Given the description of an element on the screen output the (x, y) to click on. 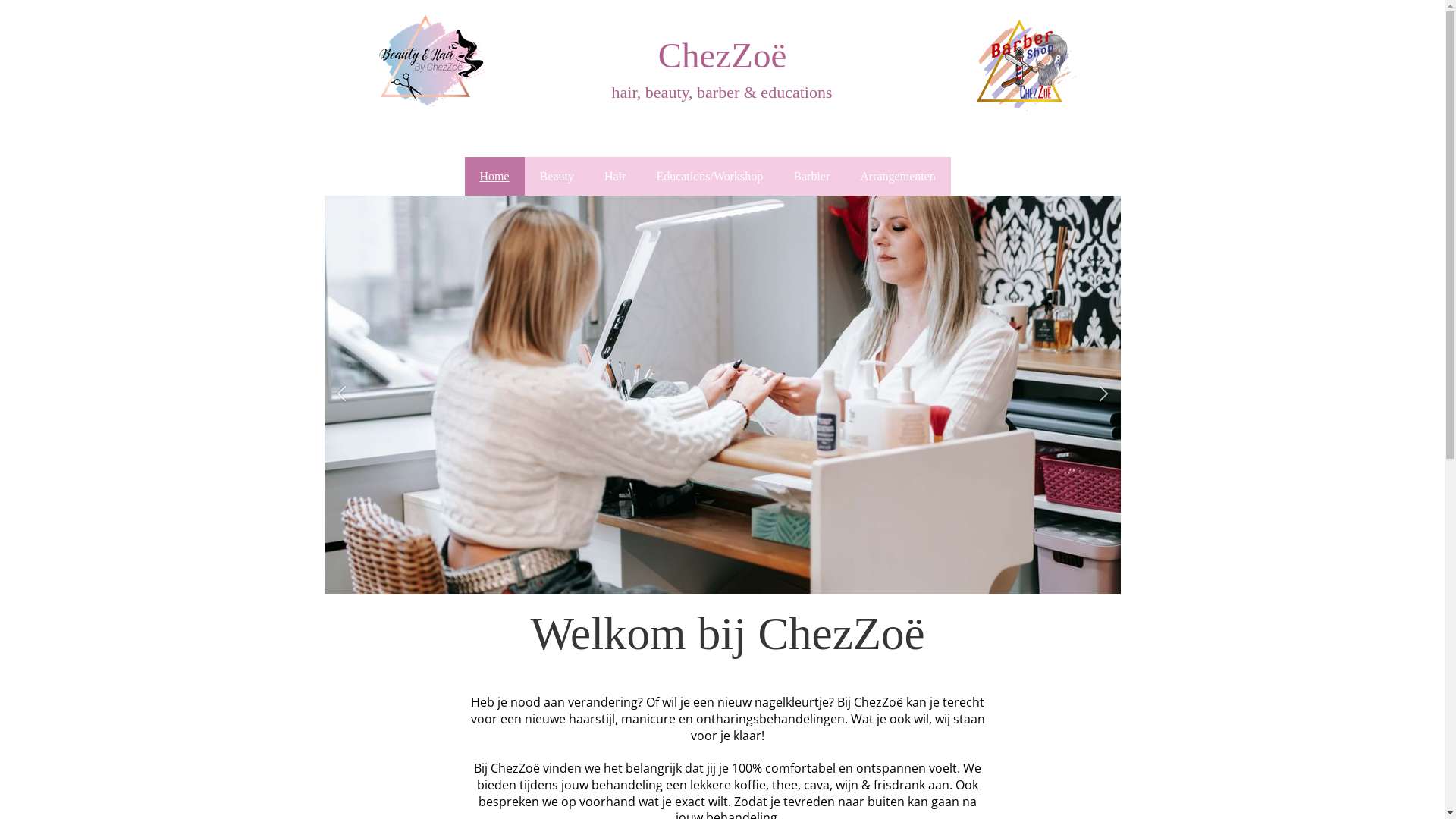
Hair Element type: text (614, 175)
Arrangementen Element type: text (897, 175)
Beauty Element type: text (556, 175)
Barbier Element type: text (811, 175)
Educations/Workshop Element type: text (709, 175)
Home Element type: text (494, 175)
